Given the description of an element on the screen output the (x, y) to click on. 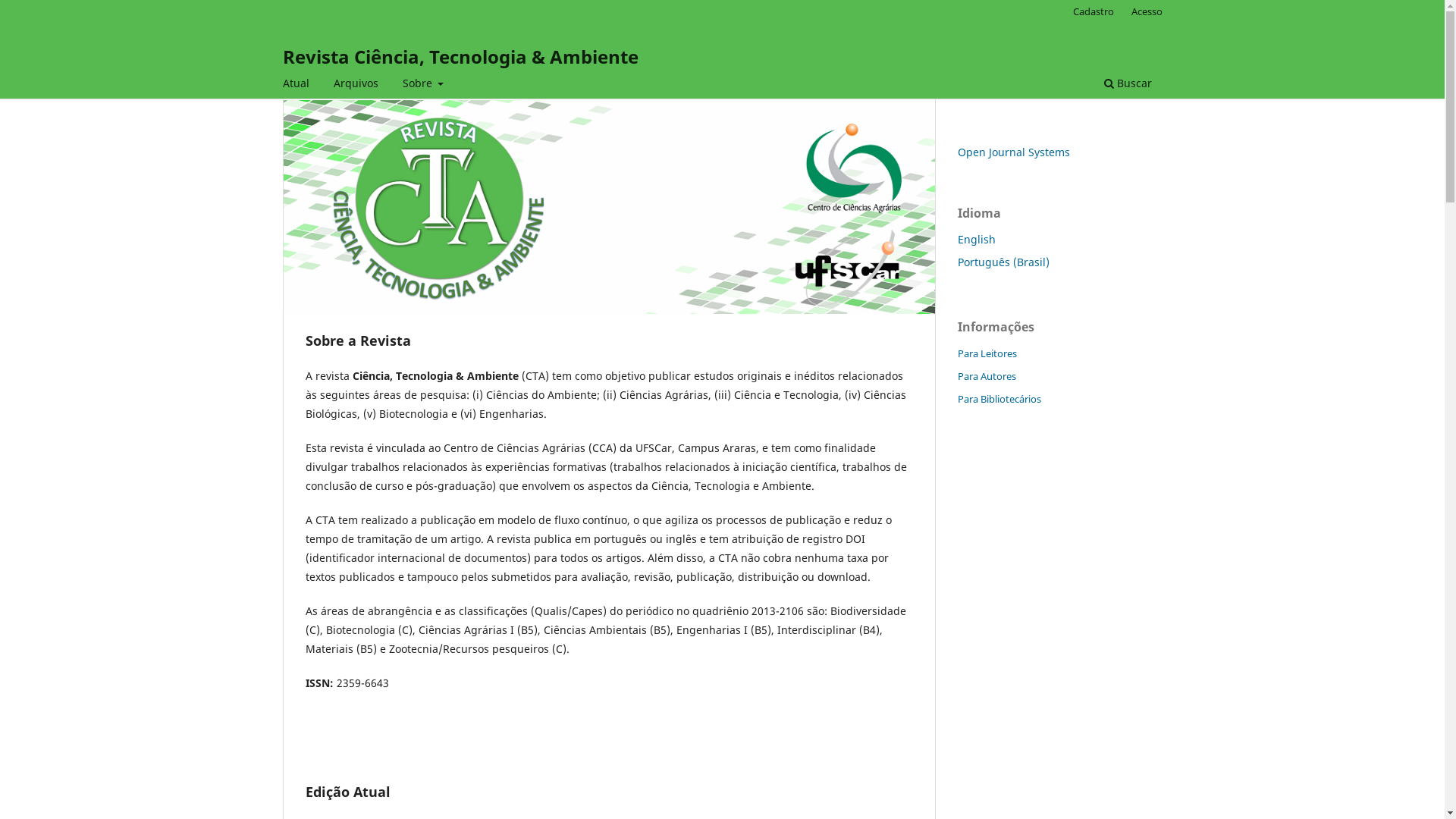
Atual Element type: text (295, 85)
Open Journal Systems Element type: text (1013, 151)
Acesso Element type: text (1146, 11)
Cadastro Element type: text (1093, 11)
Para Leitores Element type: text (986, 353)
Buscar Element type: text (1127, 85)
Arquivos Element type: text (354, 85)
Para Autores Element type: text (986, 375)
Sobre Element type: text (423, 85)
English Element type: text (975, 239)
